Given the description of an element on the screen output the (x, y) to click on. 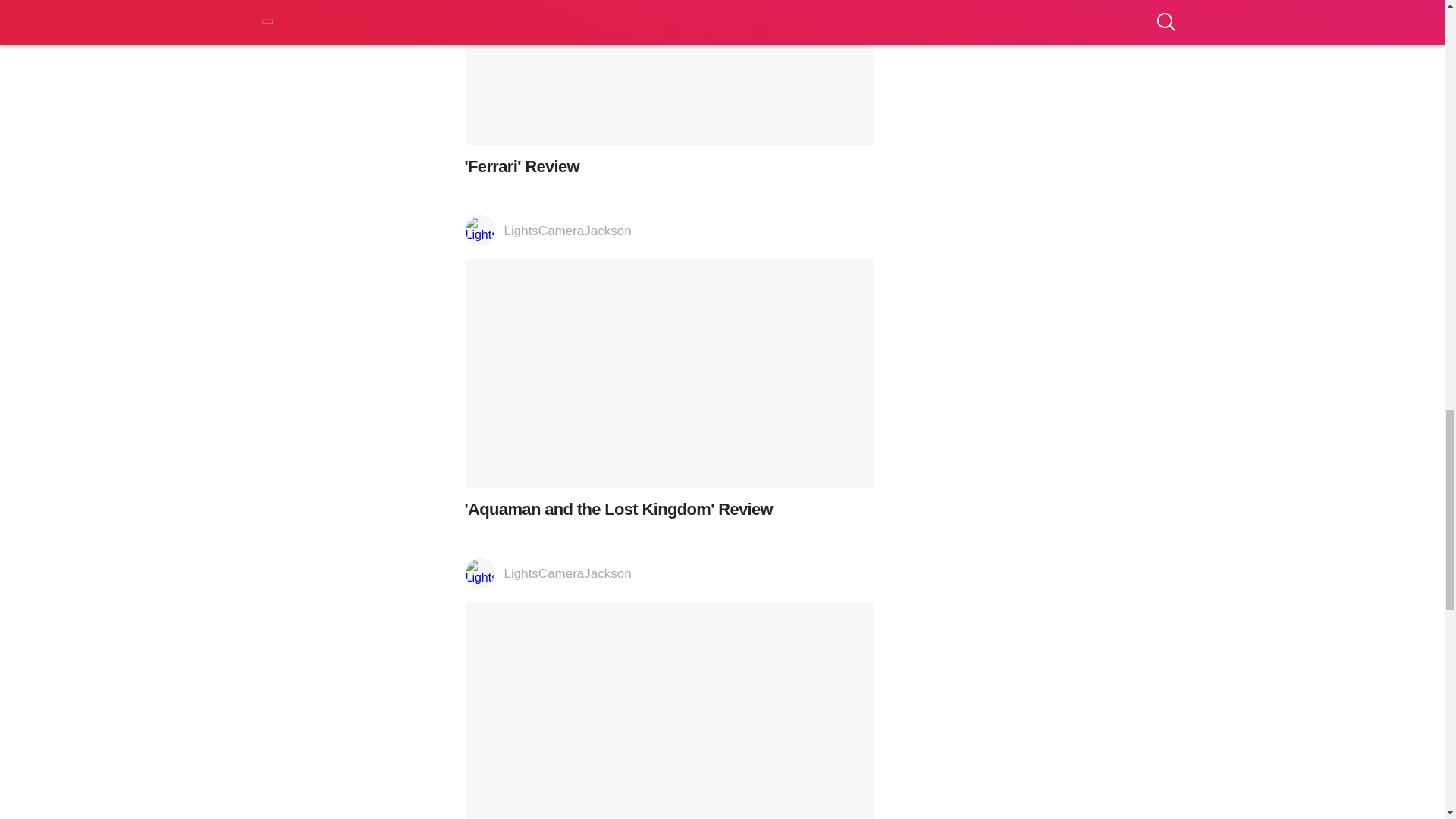
'Aquaman and the Lost Kingdom' Review (668, 389)
LightsCameraJackson (668, 231)
'Ferrari' Review (668, 88)
The 35 Best Movies of 2023 (668, 710)
LightsCameraJackson (668, 573)
